Given the description of an element on the screen output the (x, y) to click on. 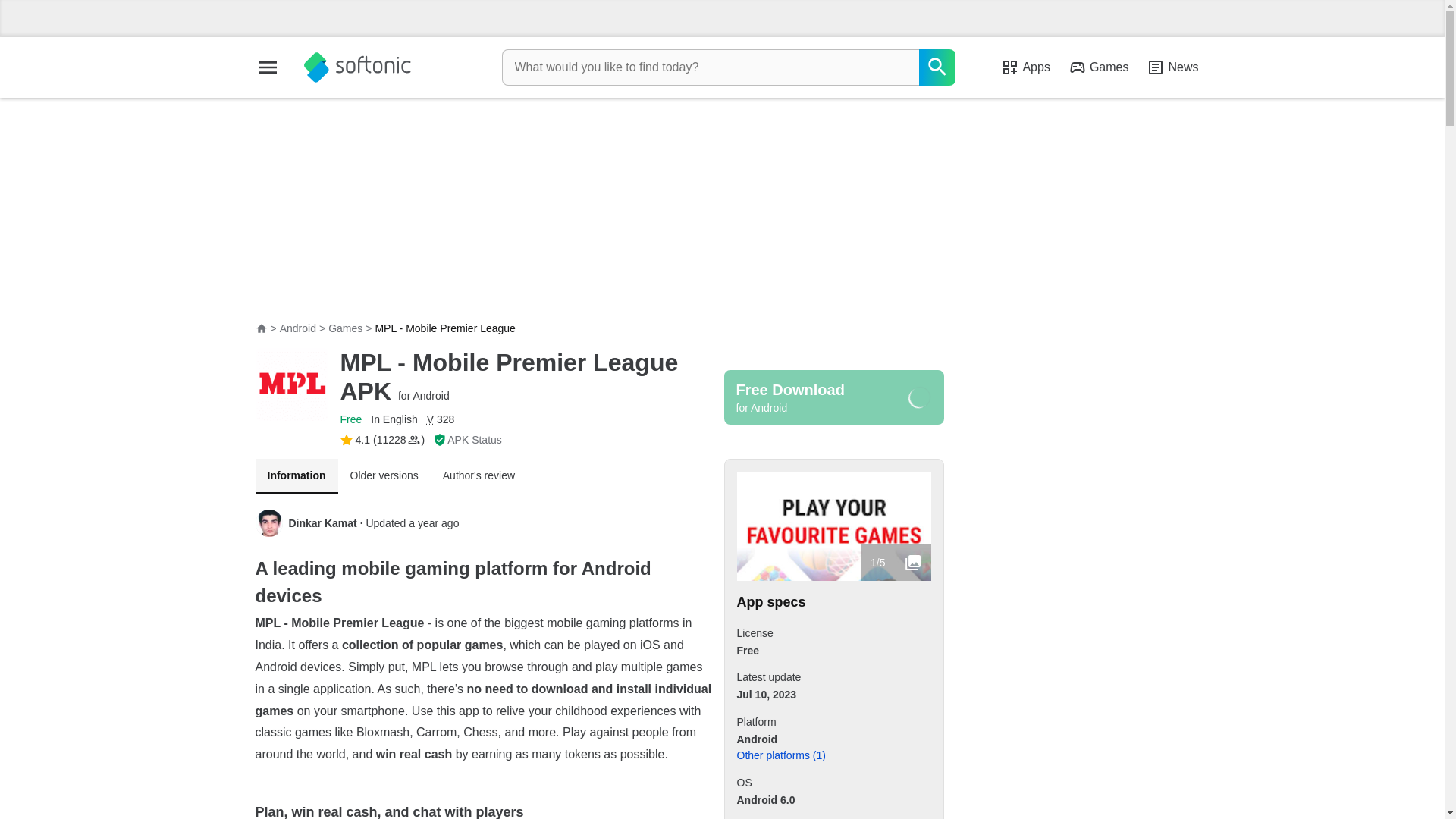
Android (297, 328)
Softonic (356, 67)
Information (295, 475)
Older versions (383, 475)
Author's review (478, 475)
